Given the description of an element on the screen output the (x, y) to click on. 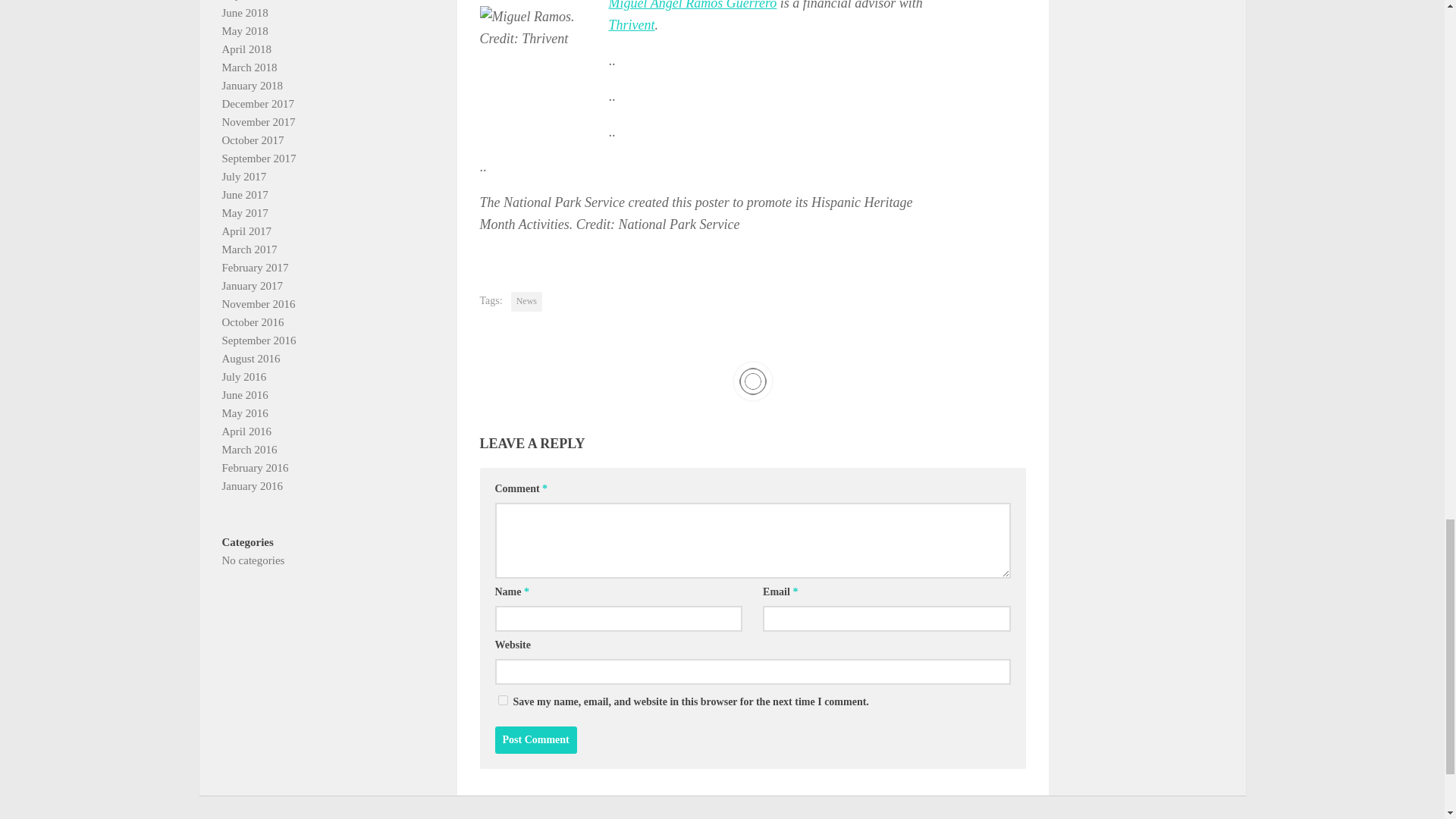
Post Comment (535, 739)
Miguel Angel Ramos Guerrero (692, 5)
Thrivent (630, 24)
News (526, 301)
Post Comment (535, 739)
yes (501, 700)
